Given the description of an element on the screen output the (x, y) to click on. 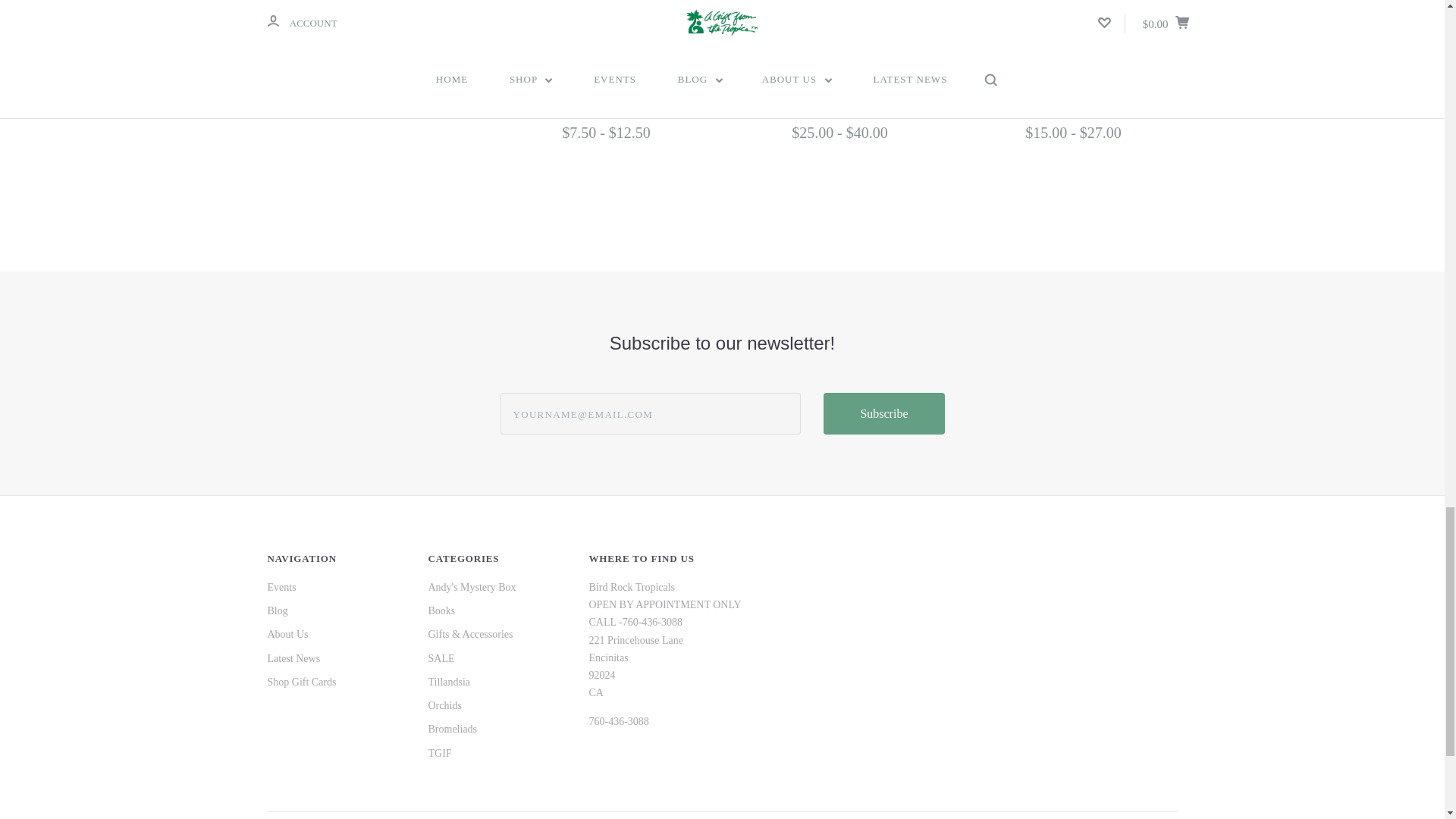
Subscribe (883, 413)
